Given the description of an element on the screen output the (x, y) to click on. 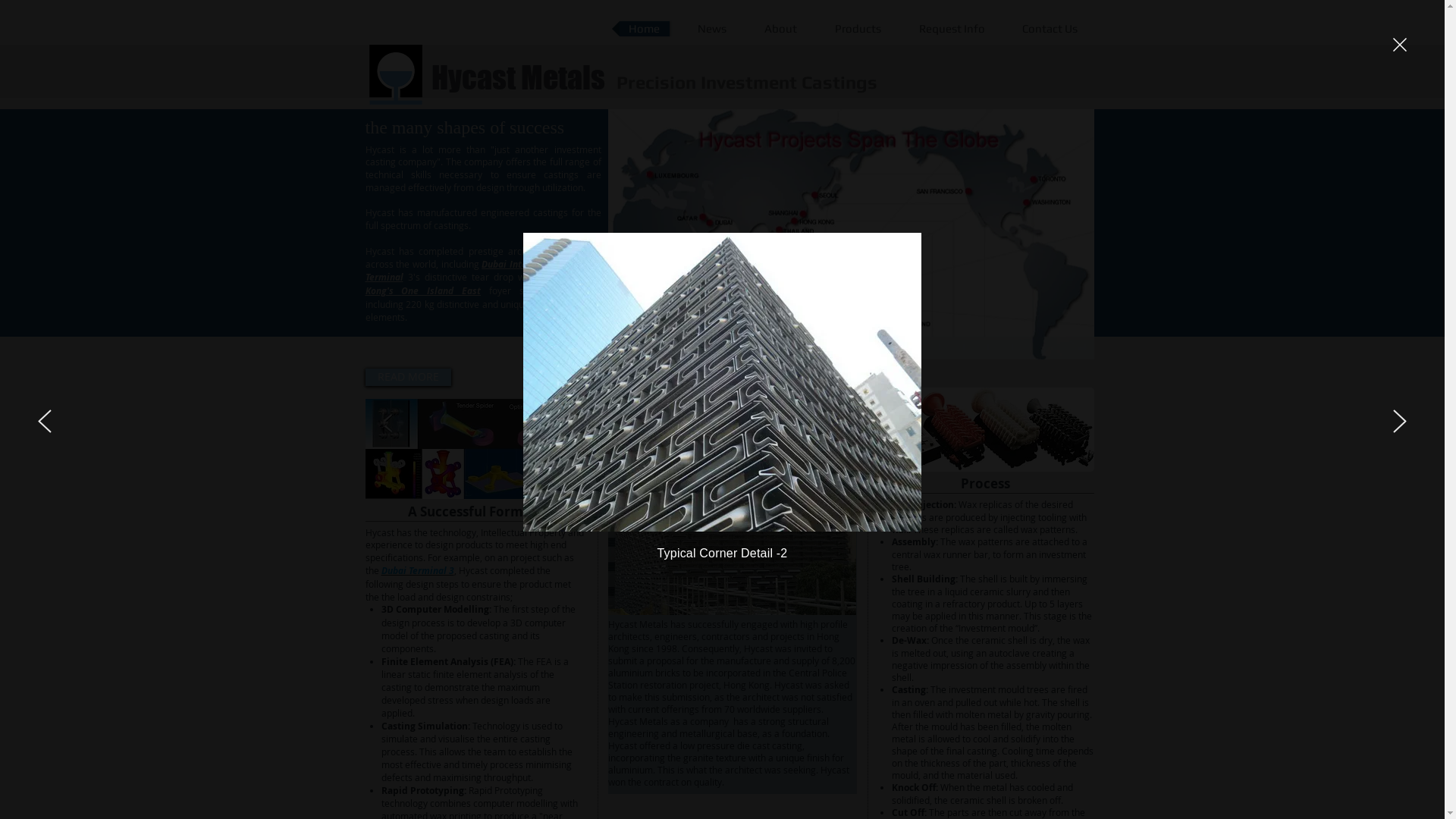
About Element type: text (780, 28)
Products Element type: text (857, 28)
Investment Casting (Lost Wax) Process Element type: hover (985, 429)
Hycast Projects Element type: hover (851, 234)
Dubai International Airport Terminal Element type: text (483, 270)
One Island East Element type: text (440, 290)
News Element type: text (711, 28)
Contact Us Element type: text (1049, 28)
READ MORE Element type: text (408, 376)
Hong Kong's Element type: text (483, 283)
Home Element type: text (643, 28)
Dubai Terminal 3 Element type: text (416, 570)
Request Info Element type: text (951, 28)
A Successful Formula Element type: hover (475, 448)
Hycast 90 x 102.png Element type: hover (394, 73)
